Given the description of an element on the screen output the (x, y) to click on. 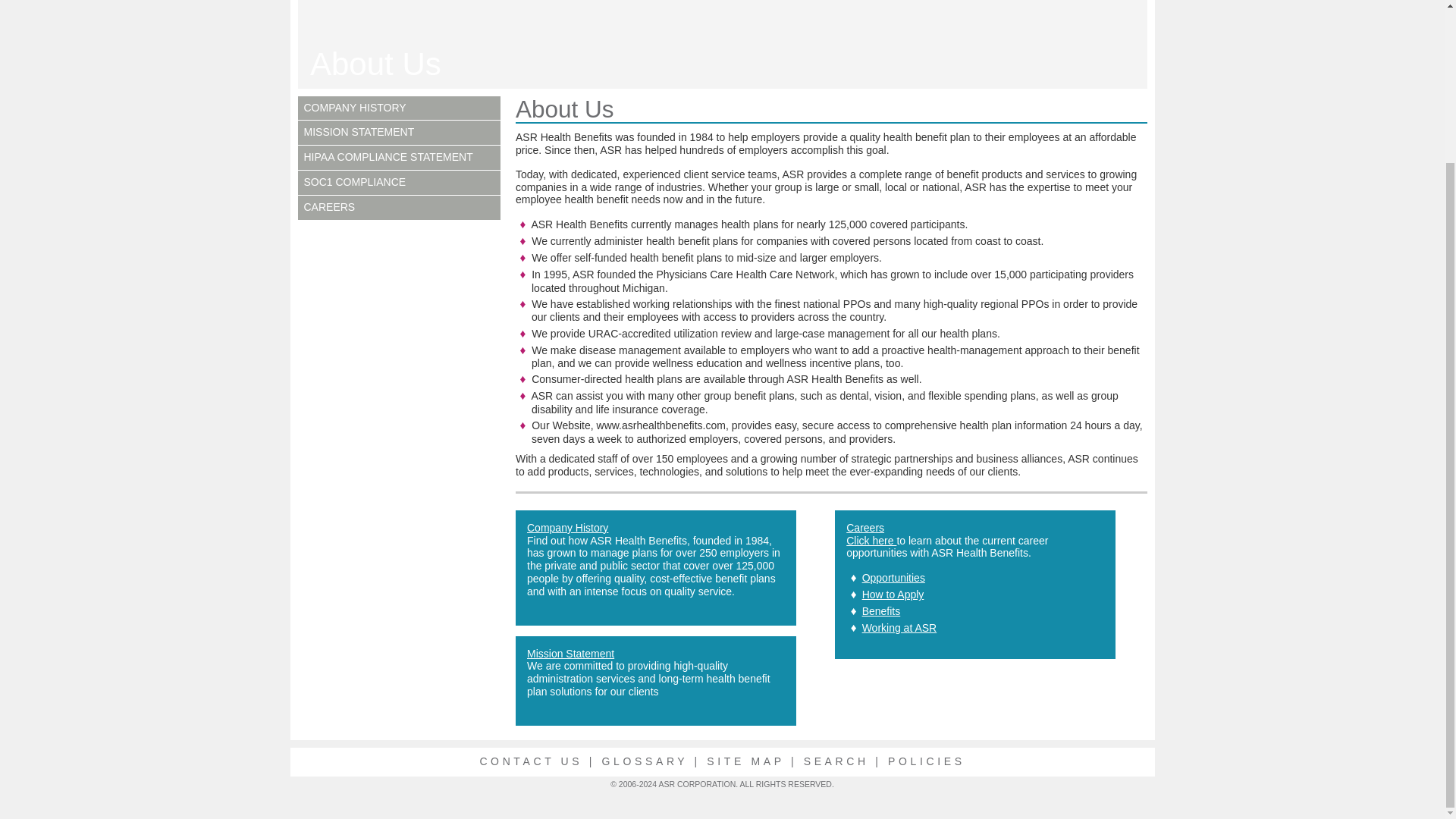
Opportunities (892, 577)
How to Apply (892, 594)
CAREERS (328, 206)
MISSION STATEMENT (357, 132)
HIPAA COMPLIANCE STATEMENT (386, 156)
Benefits (881, 611)
Careers (864, 527)
Mission Statement (570, 653)
Company History (354, 107)
Careers (864, 527)
COMPANY HISTORY (354, 107)
Mission Statement (357, 132)
Company History (567, 527)
Working at ASR (899, 627)
SOC1 COMPLIANCE (354, 182)
